Given the description of an element on the screen output the (x, y) to click on. 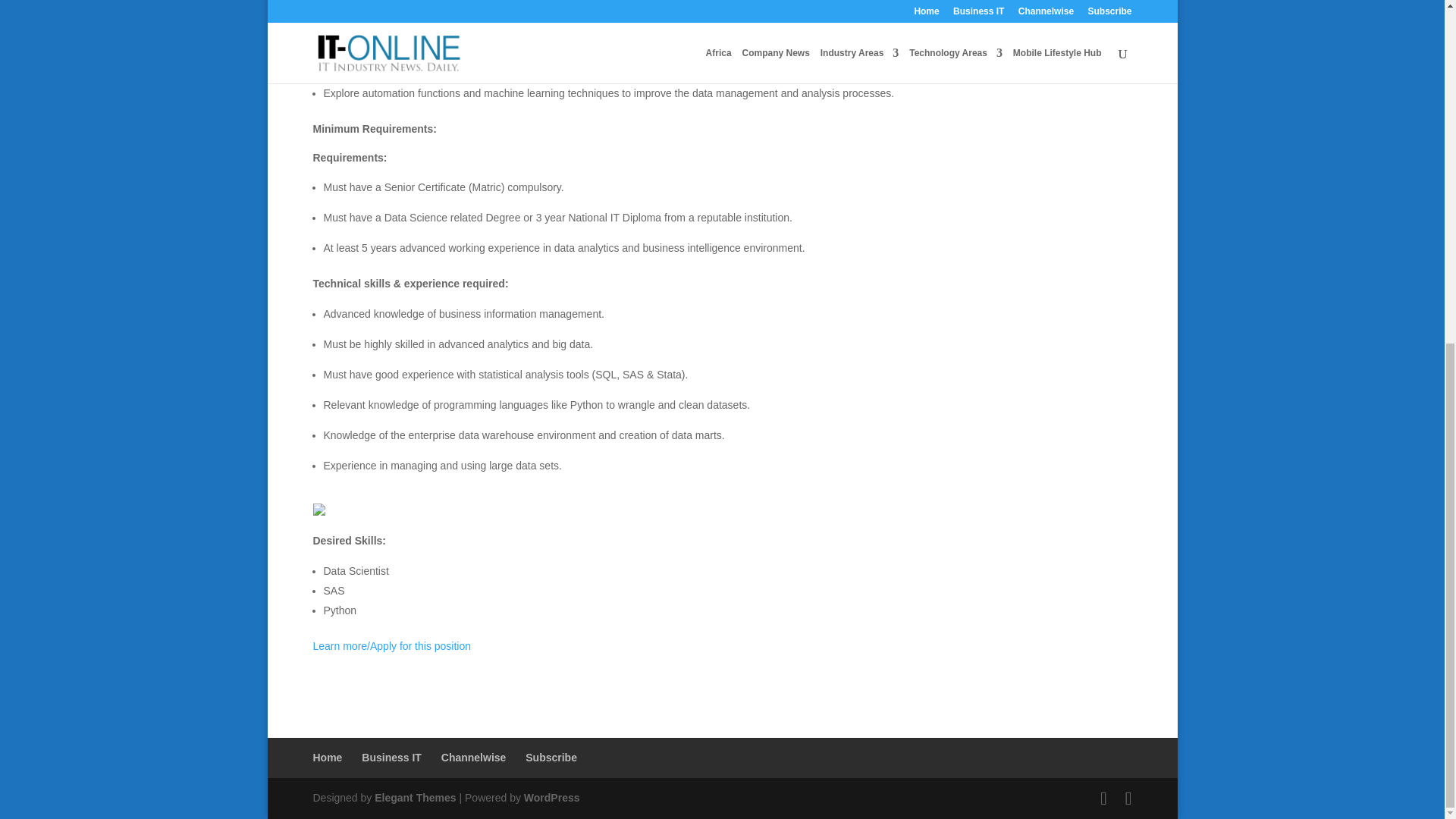
Premium WordPress Themes (414, 797)
